Given the description of an element on the screen output the (x, y) to click on. 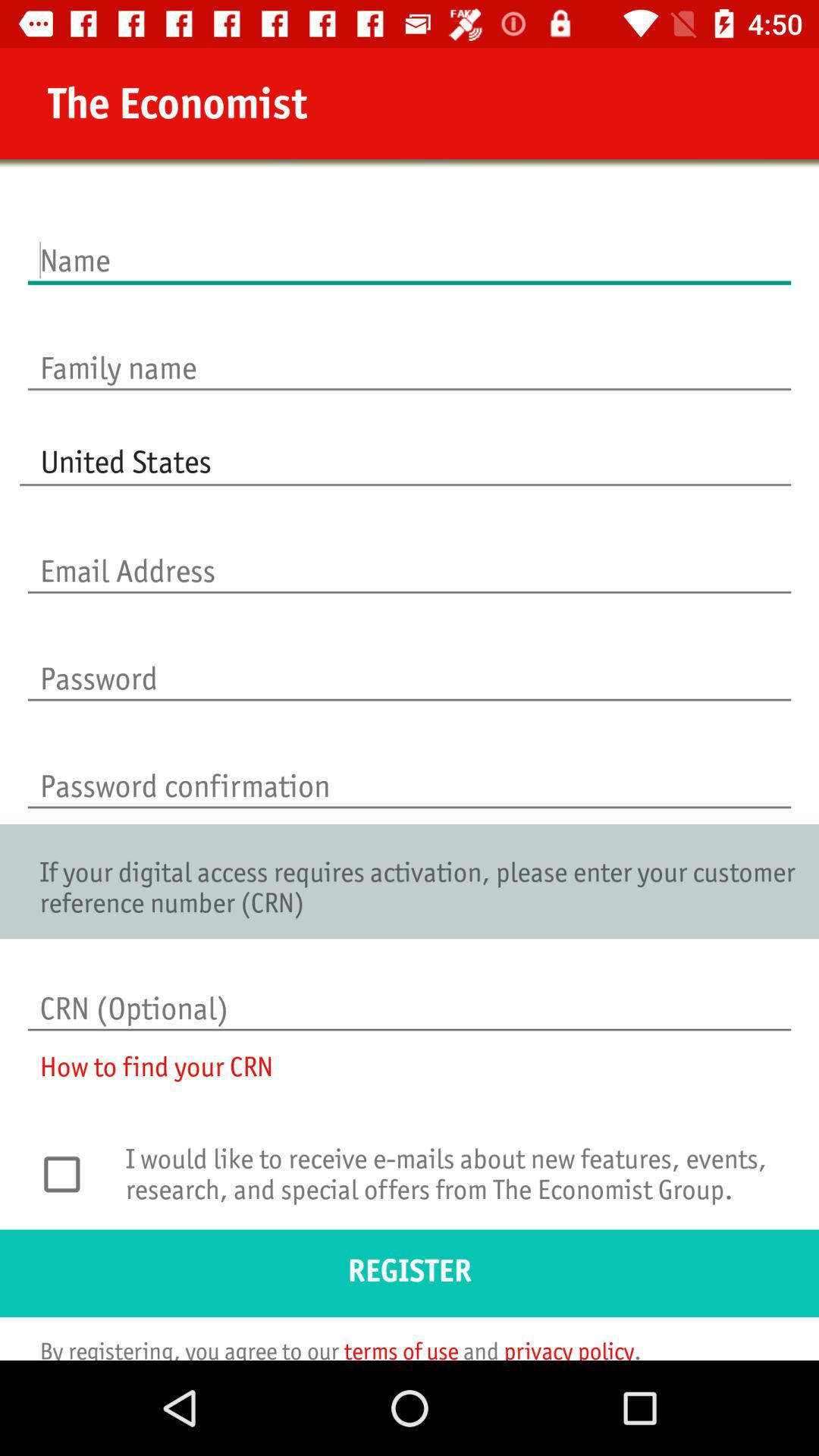
launch icon above united states (409, 352)
